Given the description of an element on the screen output the (x, y) to click on. 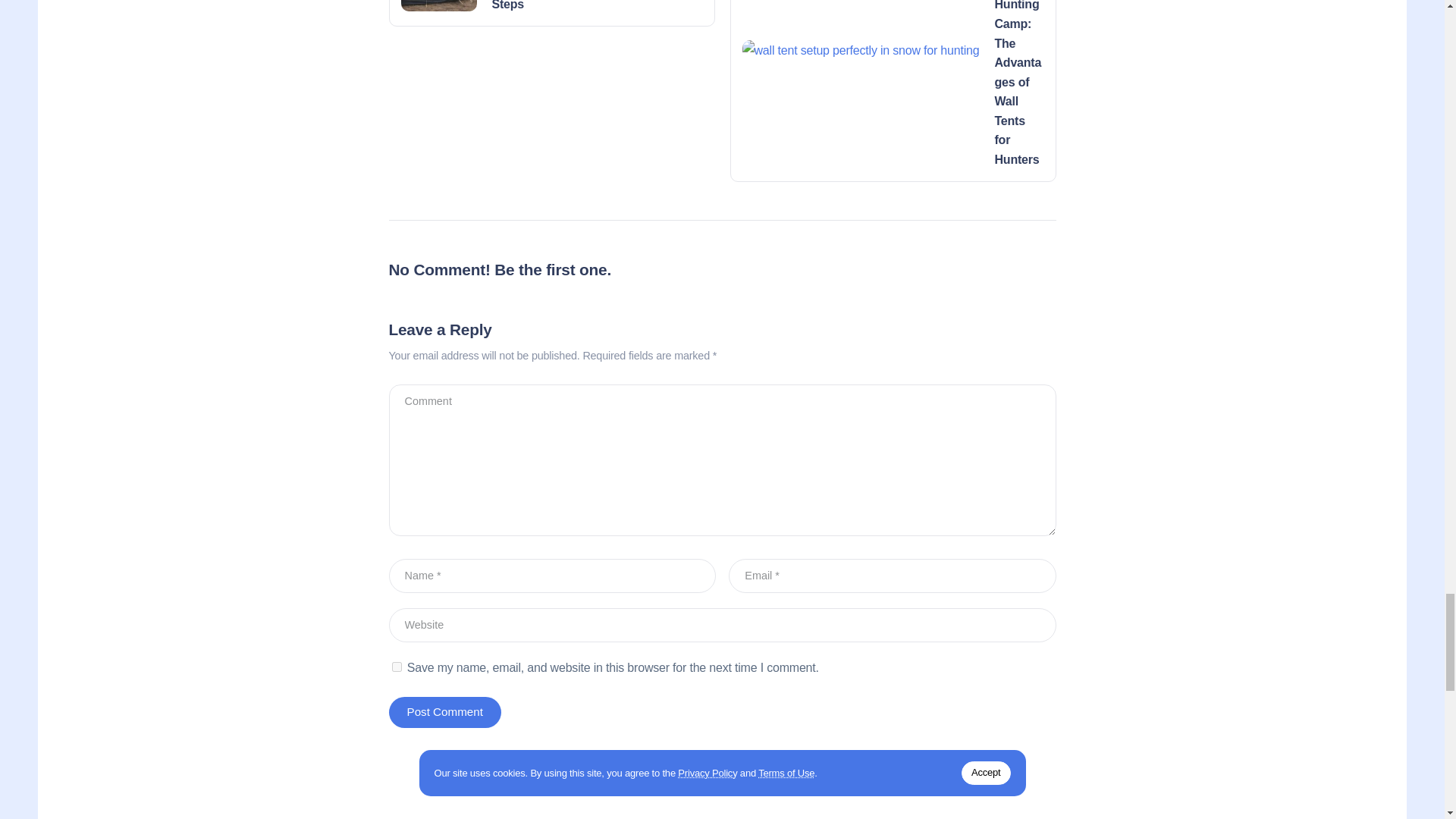
Post Comment (444, 711)
yes (396, 666)
